Given the description of an element on the screen output the (x, y) to click on. 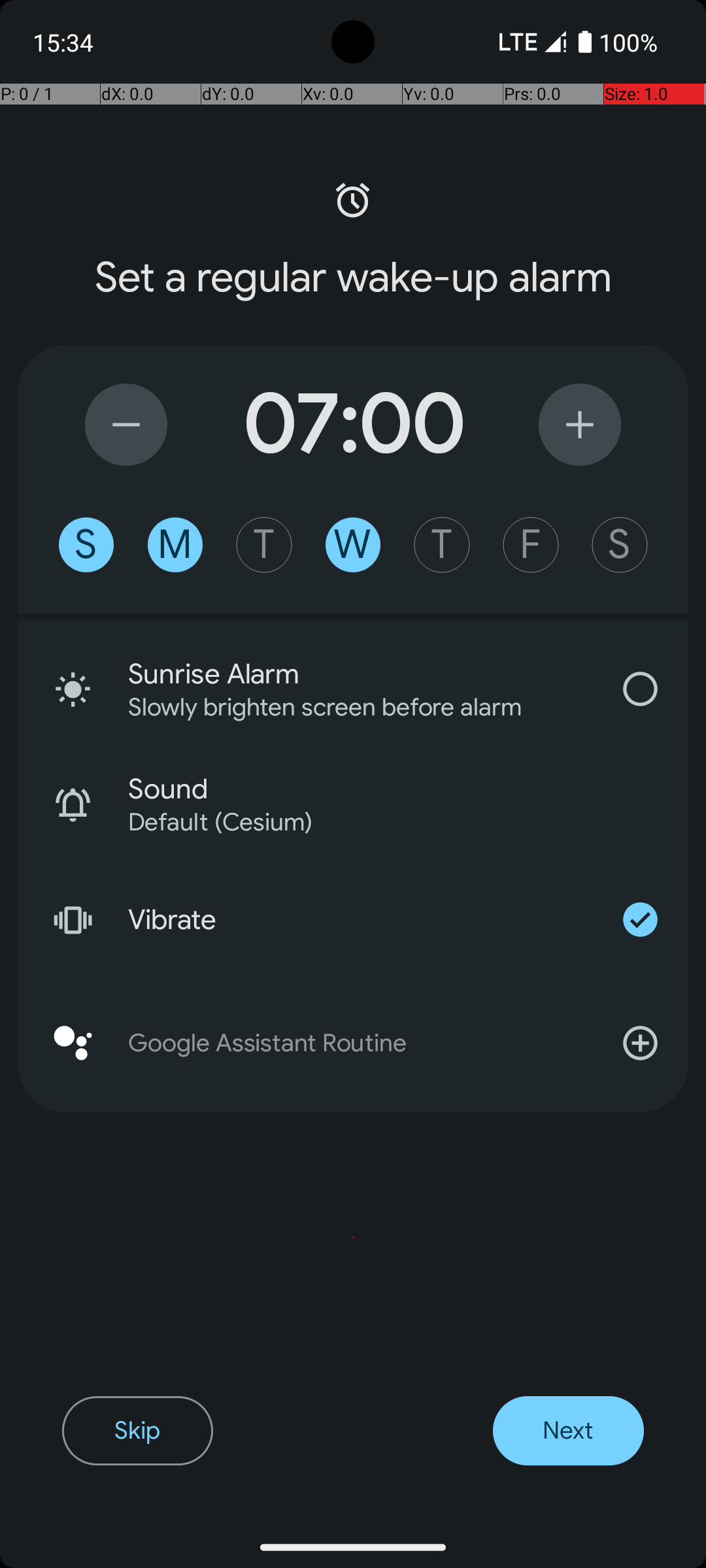
Set a regular wake-up alarm Element type: android.widget.TextView (352, 277)
Fifteen minutes earlier Element type: android.widget.ImageView (125, 424)
07:00 Element type: android.widget.TextView (353, 424)
Fifteen minutes later Element type: android.widget.ImageView (579, 424)
Google Assistant Routine Element type: android.widget.TextView (352, 1043)
Skip Element type: android.widget.Button (137, 1430)
Sunrise Alarm Element type: android.widget.TextView (360, 673)
Slowly brighten screen before alarm Element type: android.widget.TextView (342, 706)
Sound Element type: android.widget.TextView (408, 788)
